Given the description of an element on the screen output the (x, y) to click on. 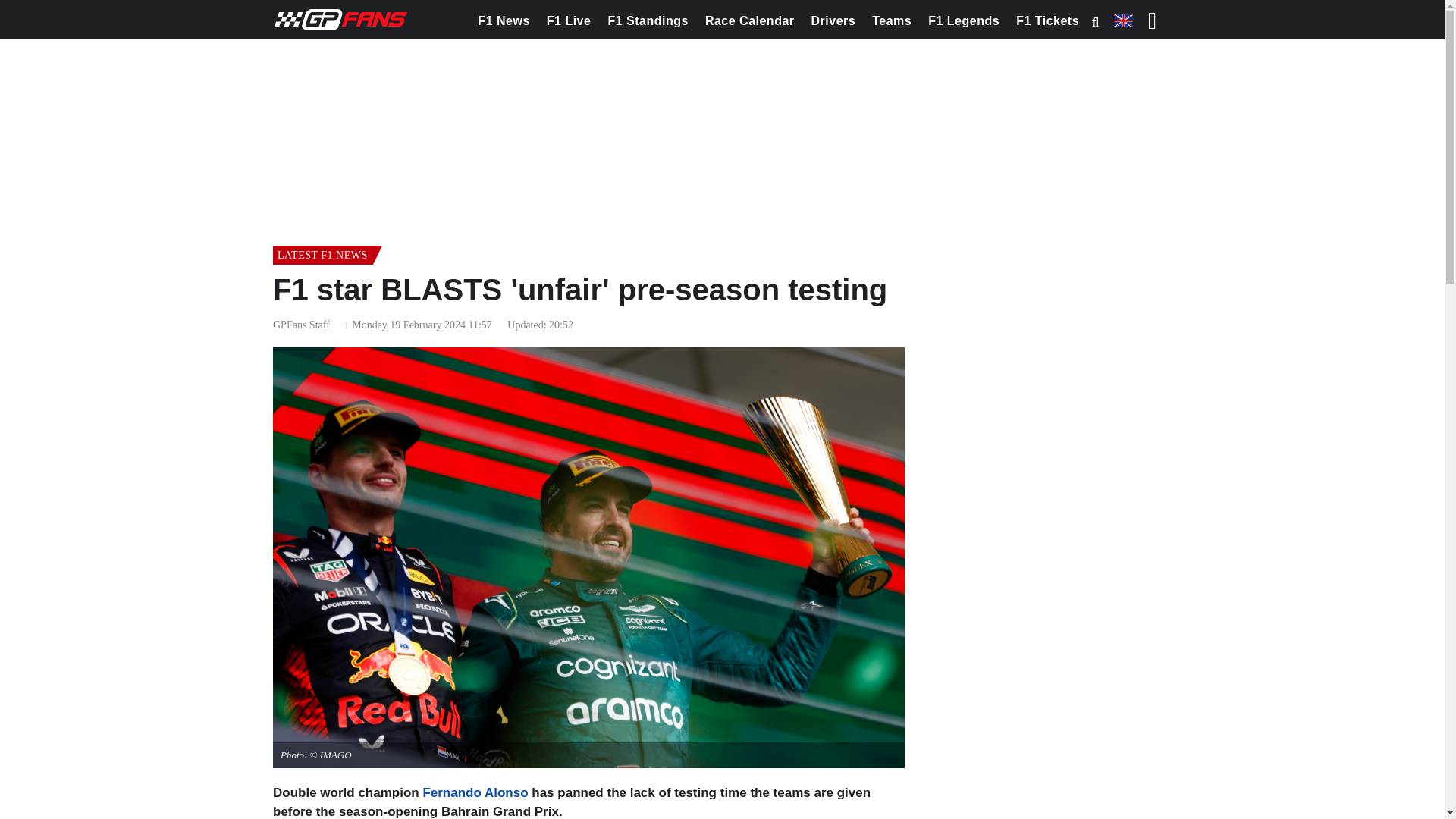
F1 Live (568, 21)
Drivers (833, 21)
F1 Standings (647, 21)
F1 Legends (963, 21)
Teams (891, 21)
F1 Tickets (1047, 21)
F1 News (502, 21)
Fernando Alonso (474, 792)
Race Calendar (749, 21)
